Given the description of an element on the screen output the (x, y) to click on. 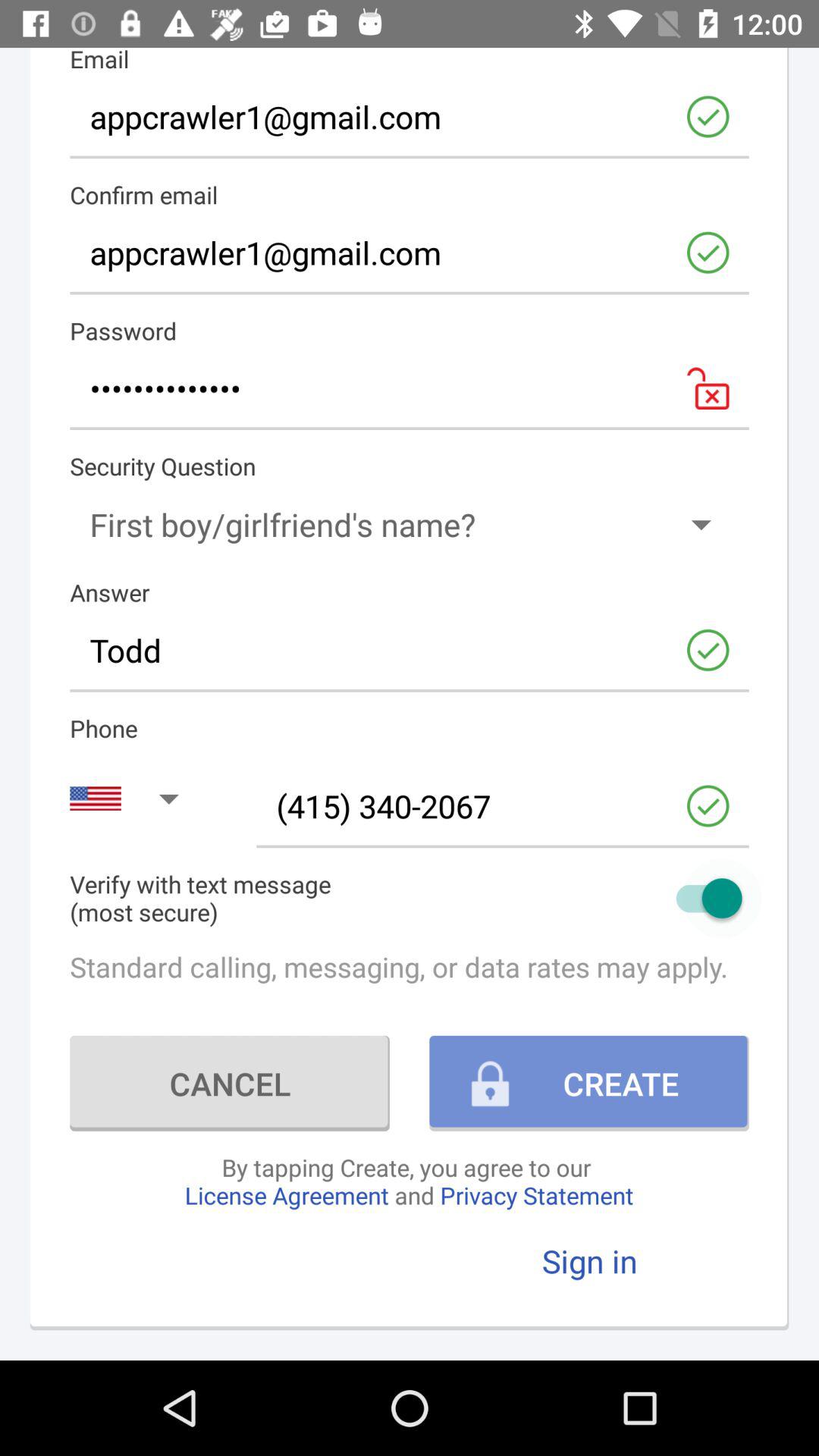
turn off the item above phone icon (409, 650)
